Given the description of an element on the screen output the (x, y) to click on. 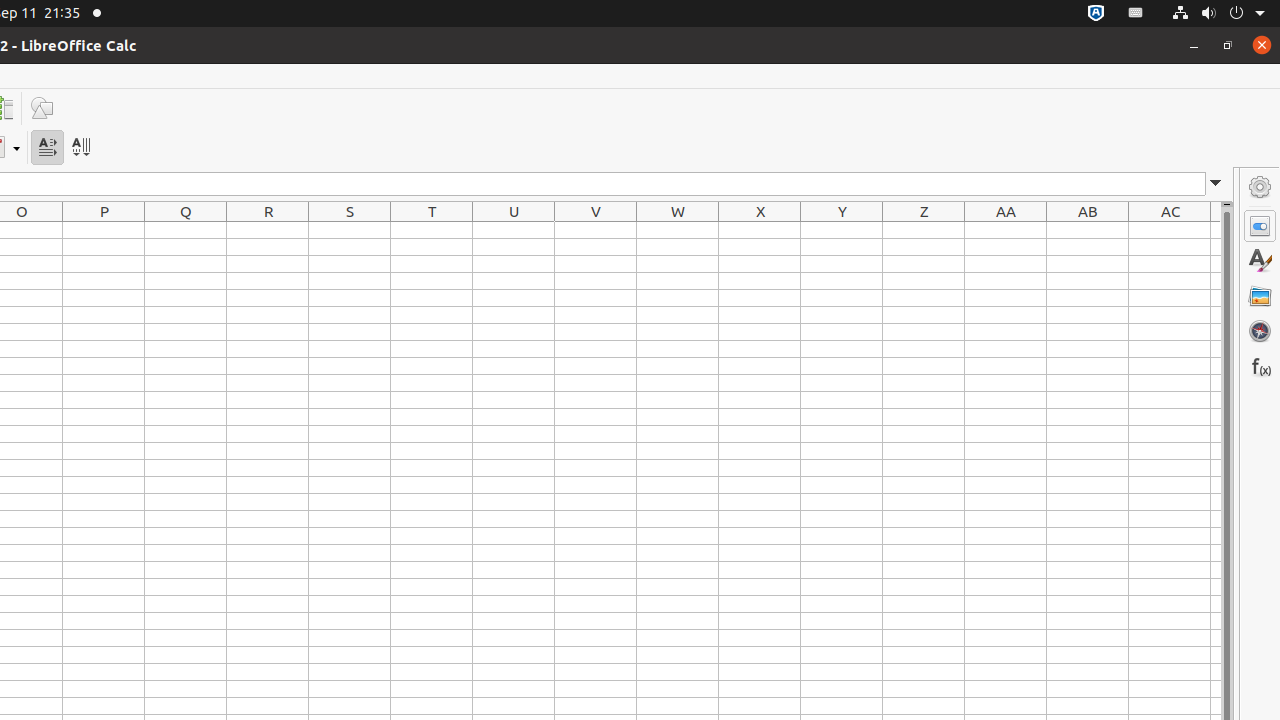
Properties Element type: radio-button (1260, 226)
R1 Element type: table-cell (268, 230)
Y1 Element type: table-cell (842, 230)
AB1 Element type: table-cell (1088, 230)
T1 Element type: table-cell (432, 230)
